Given the description of an element on the screen output the (x, y) to click on. 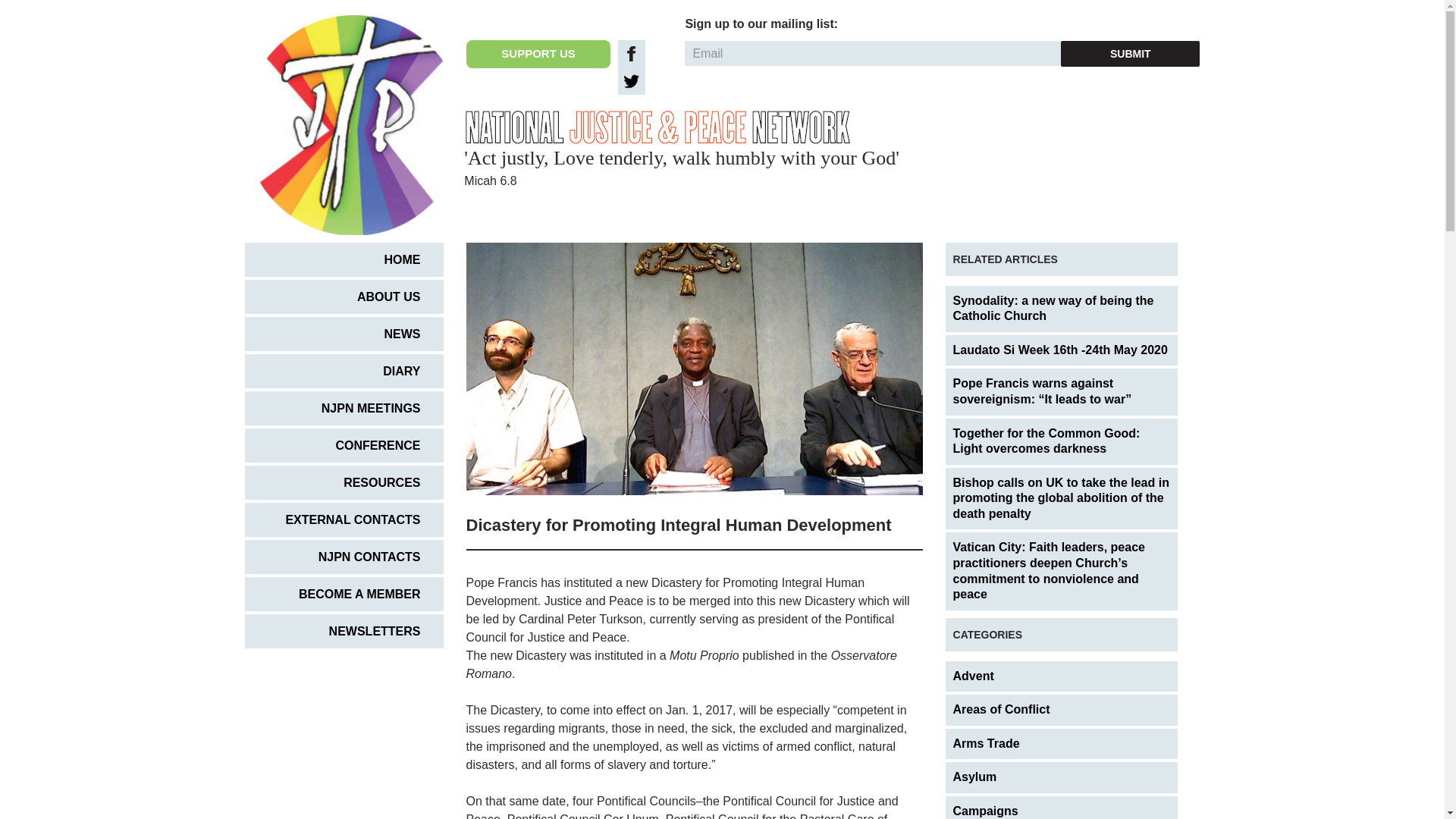
Synodality: a new way of being the Catholic Church (1060, 308)
Together for the Common Good: Light overcomes darkness (1060, 441)
Submit (1130, 53)
Laudato Si Week 16th -24th May 2020 (1060, 350)
Submit (1130, 53)
Arms Trade (1060, 744)
Campaigns (1060, 807)
Advent (1060, 676)
SUPPORT US (537, 53)
Areas of Conflict (1060, 709)
Asylum (1060, 777)
